Given the description of an element on the screen output the (x, y) to click on. 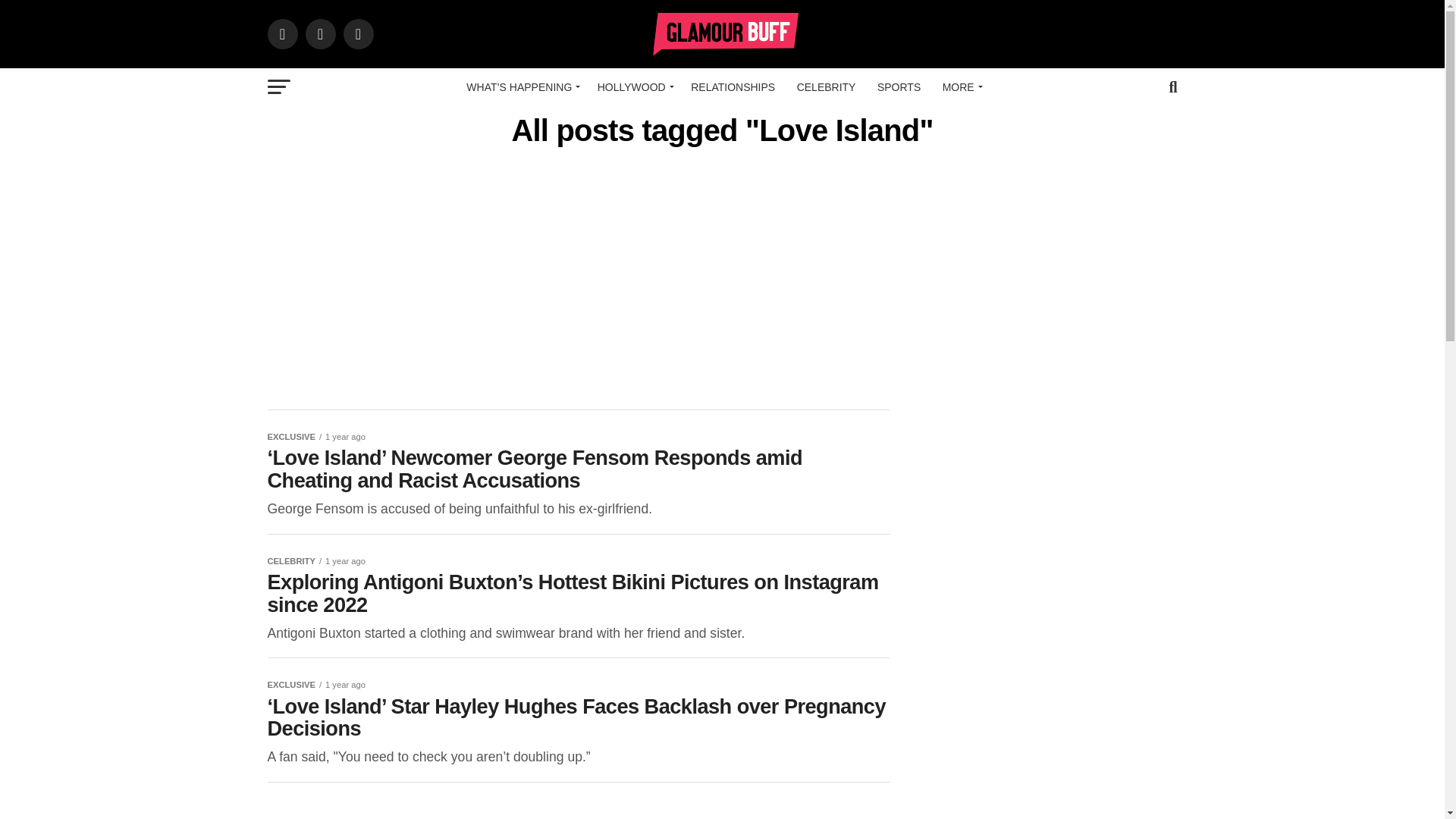
HOLLYWOOD (633, 86)
